Given the description of an element on the screen output the (x, y) to click on. 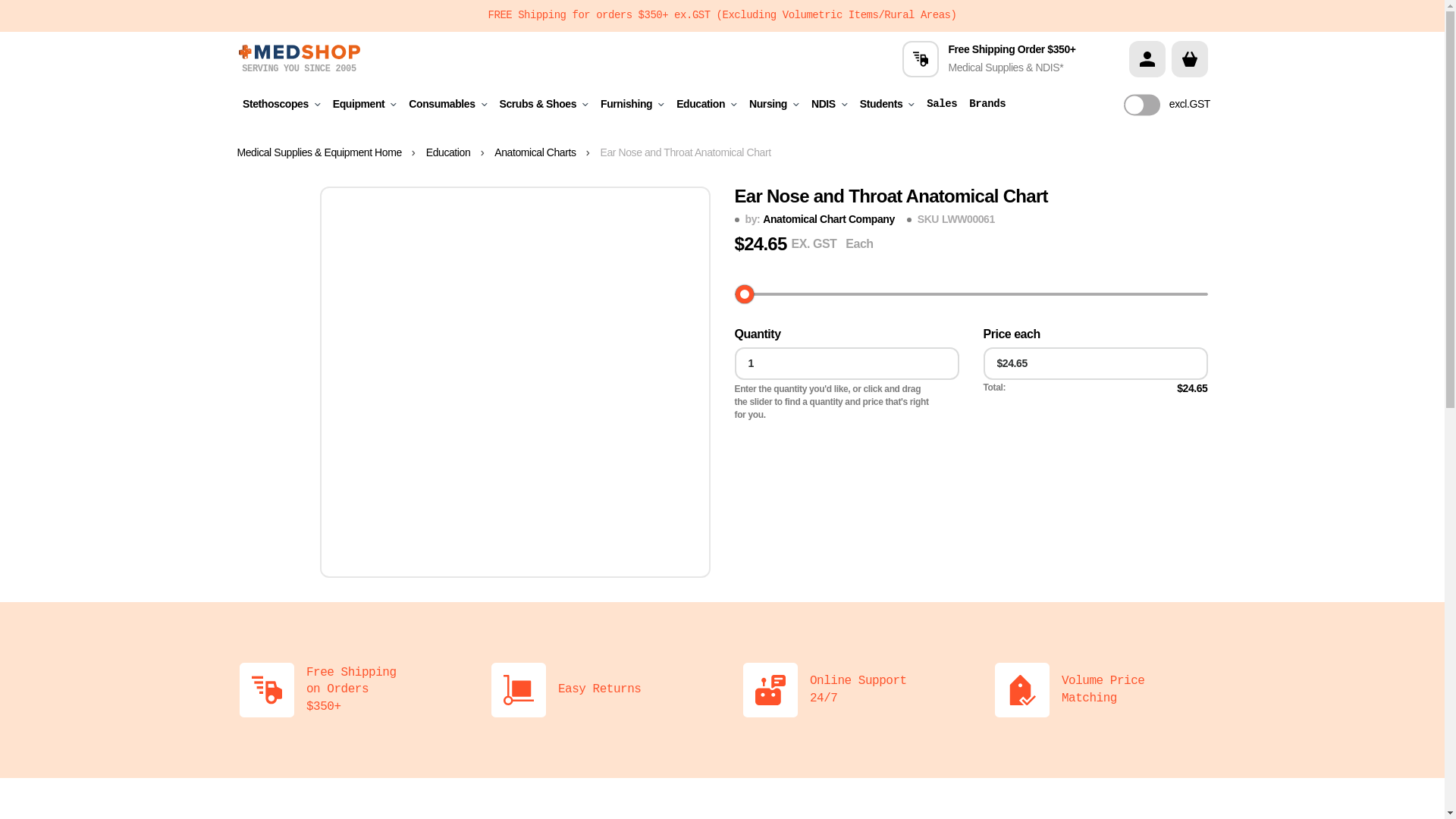
Anatomical Charts Element type: text (543, 153)
Consumables Element type: text (447, 104)
Sales Element type: text (941, 104)
Equipment Element type: text (364, 104)
Education Element type: text (457, 153)
Education Element type: text (706, 104)
SERVING YOU SINCE 2005 Element type: text (298, 58)
Nursing Element type: text (774, 104)
by:
Anatomical Chart Company Element type: text (819, 219)
Brands Element type: text (987, 104)
Stethoscopes Element type: text (281, 104)
Furnishing Element type: text (632, 104)
NDIS Element type: text (829, 104)
Scrubs & Shoes Element type: text (544, 104)
Students Element type: text (887, 104)
Medical Supplies & Equipment Home Element type: text (327, 153)
